Given the description of an element on the screen output the (x, y) to click on. 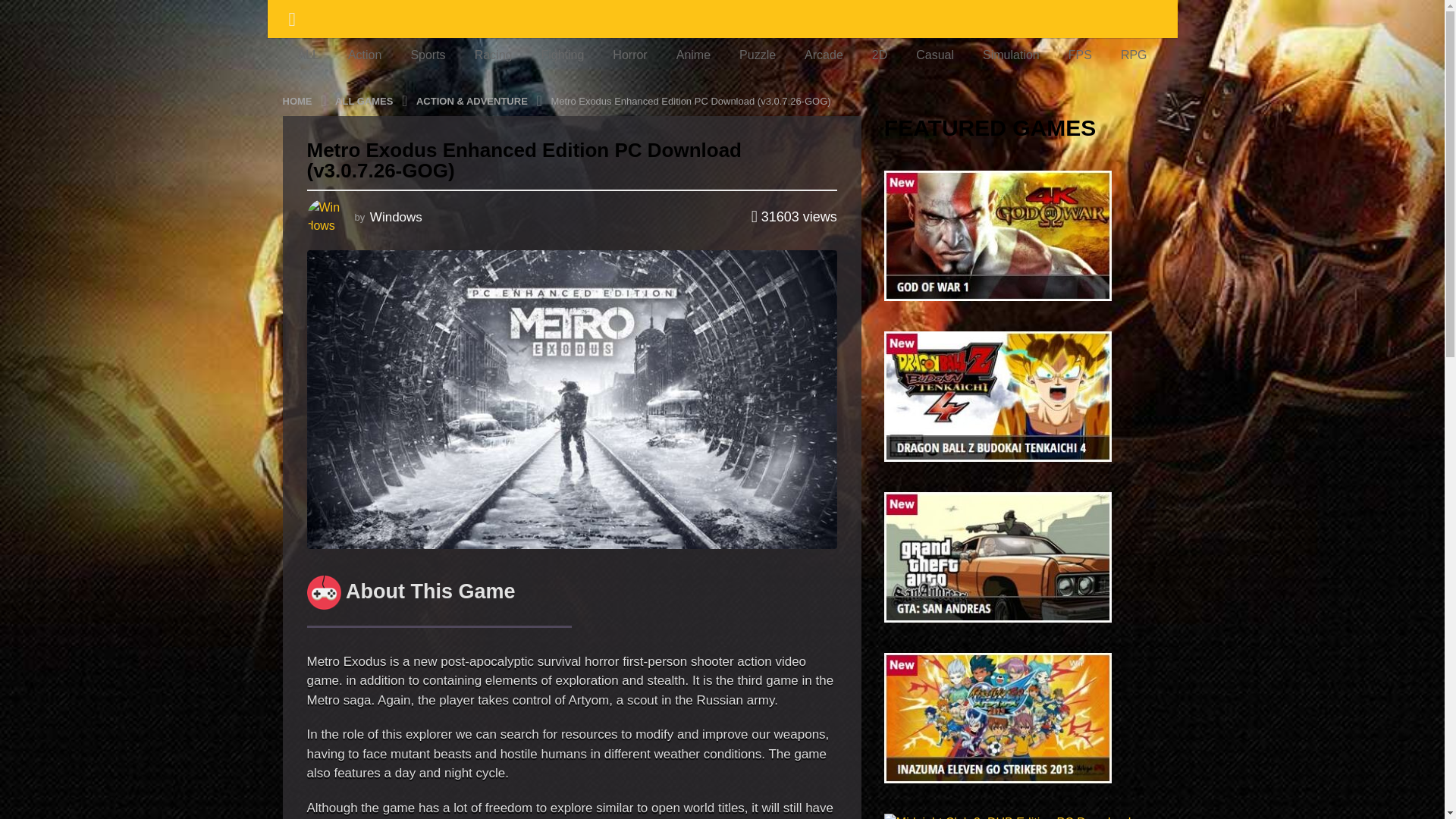
Horror (629, 54)
Fighting (562, 54)
Action (364, 54)
Casual (934, 54)
Arcade (823, 54)
Sports (427, 54)
Horror (629, 54)
Puzzle (757, 54)
HOME (298, 100)
ALL GAMES (365, 100)
Racing (493, 54)
Fighting (562, 54)
Puzzle (757, 54)
FPS (1080, 54)
